Given the description of an element on the screen output the (x, y) to click on. 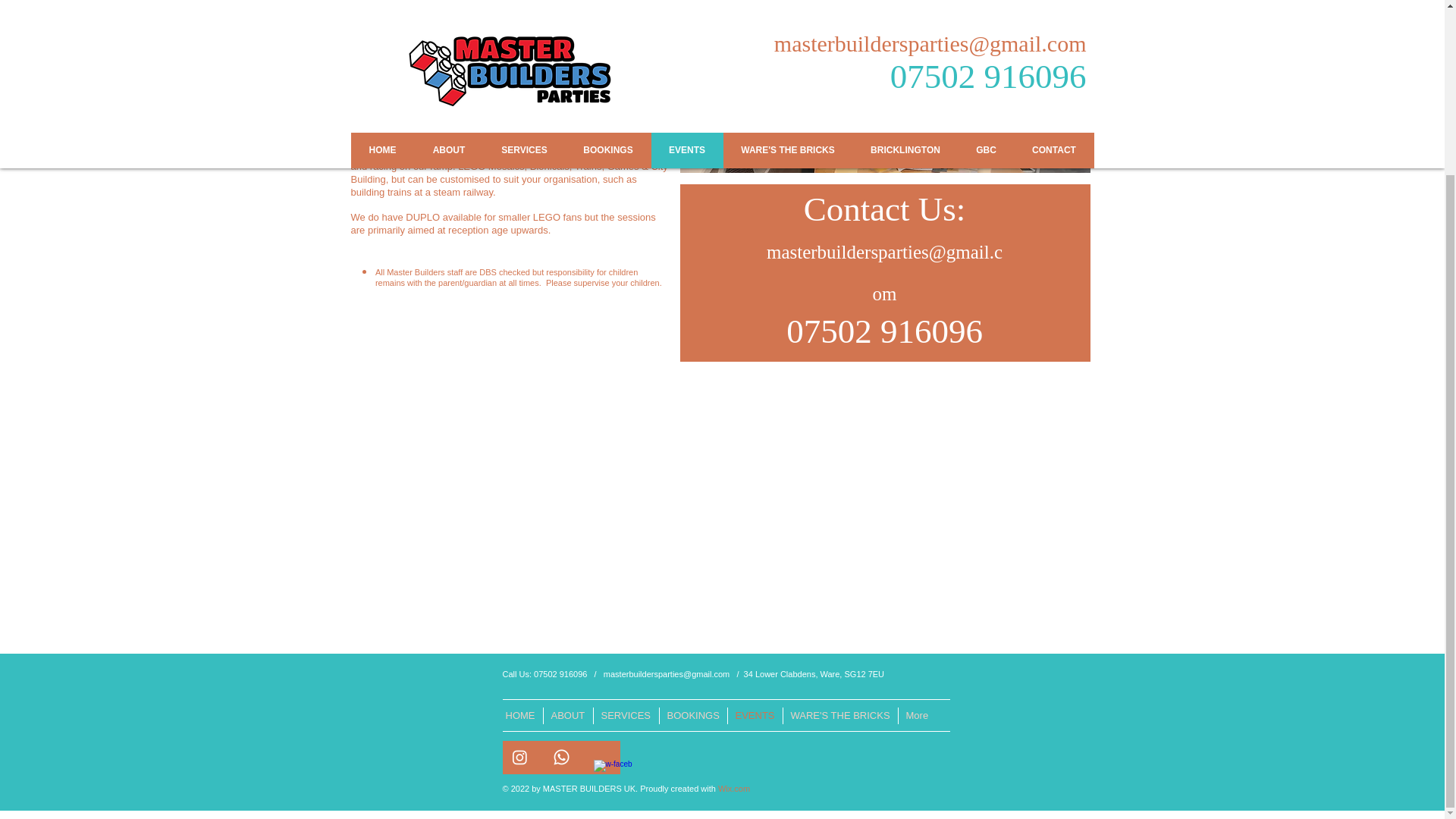
EVENTS (753, 715)
Upcoming Events (567, 2)
ABOUT (567, 715)
HOME (519, 715)
WARE'S THE BRICKS (840, 715)
SERVICES (625, 715)
BOOKINGS (692, 715)
Wix.com (733, 788)
